Given the description of an element on the screen output the (x, y) to click on. 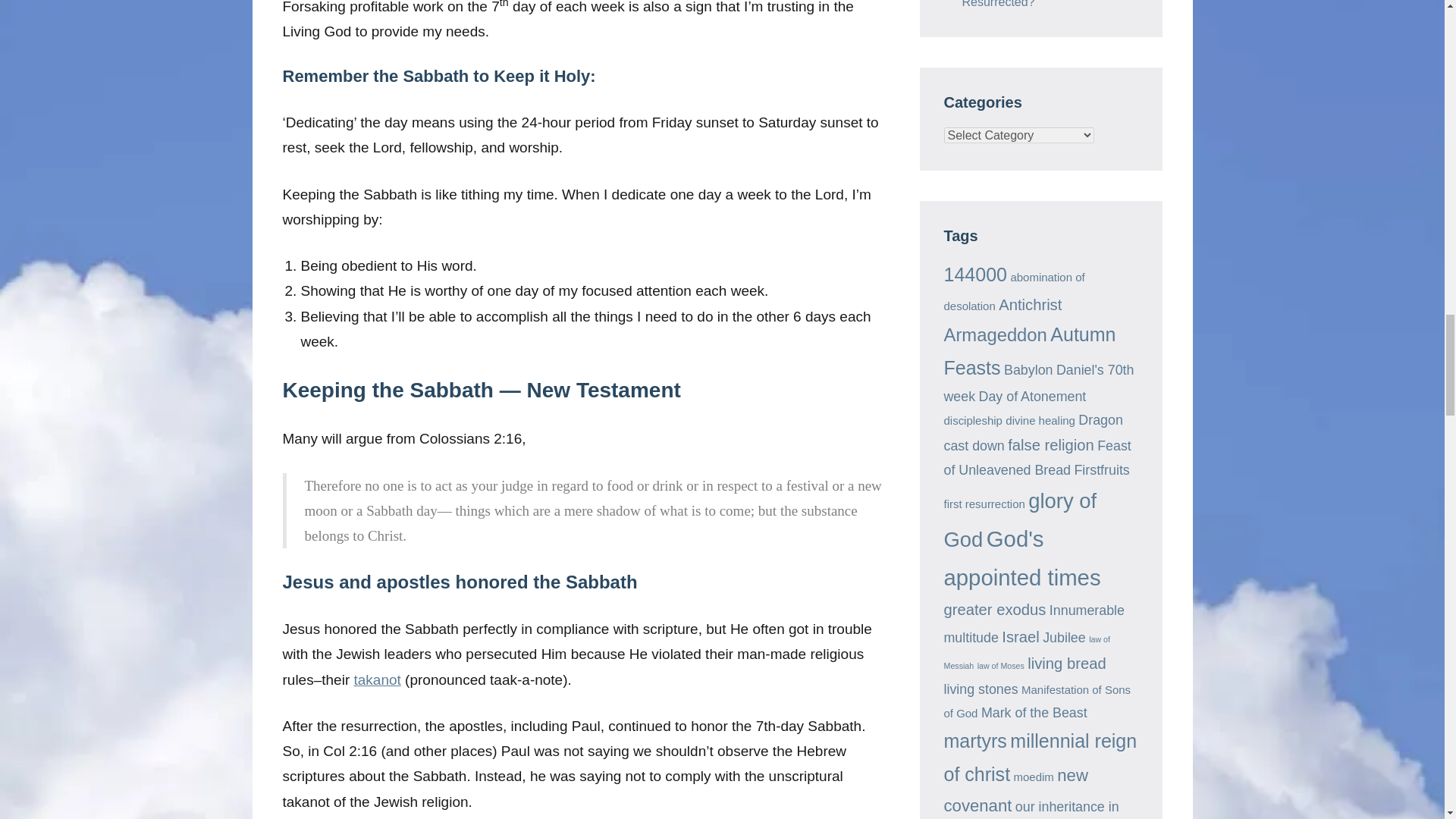
takanot (376, 679)
